Given the description of an element on the screen output the (x, y) to click on. 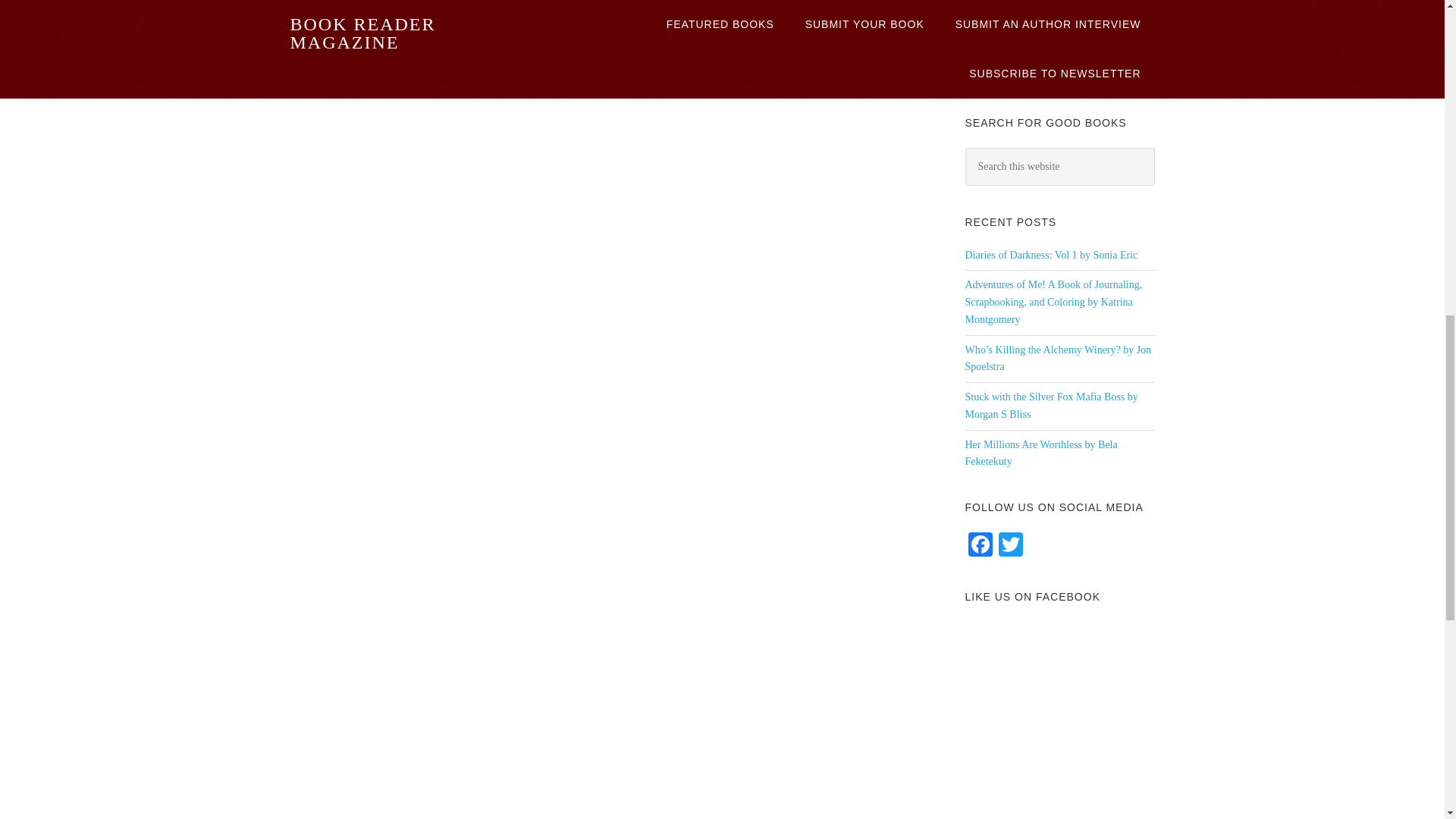
Facebook (978, 546)
